Given the description of an element on the screen output the (x, y) to click on. 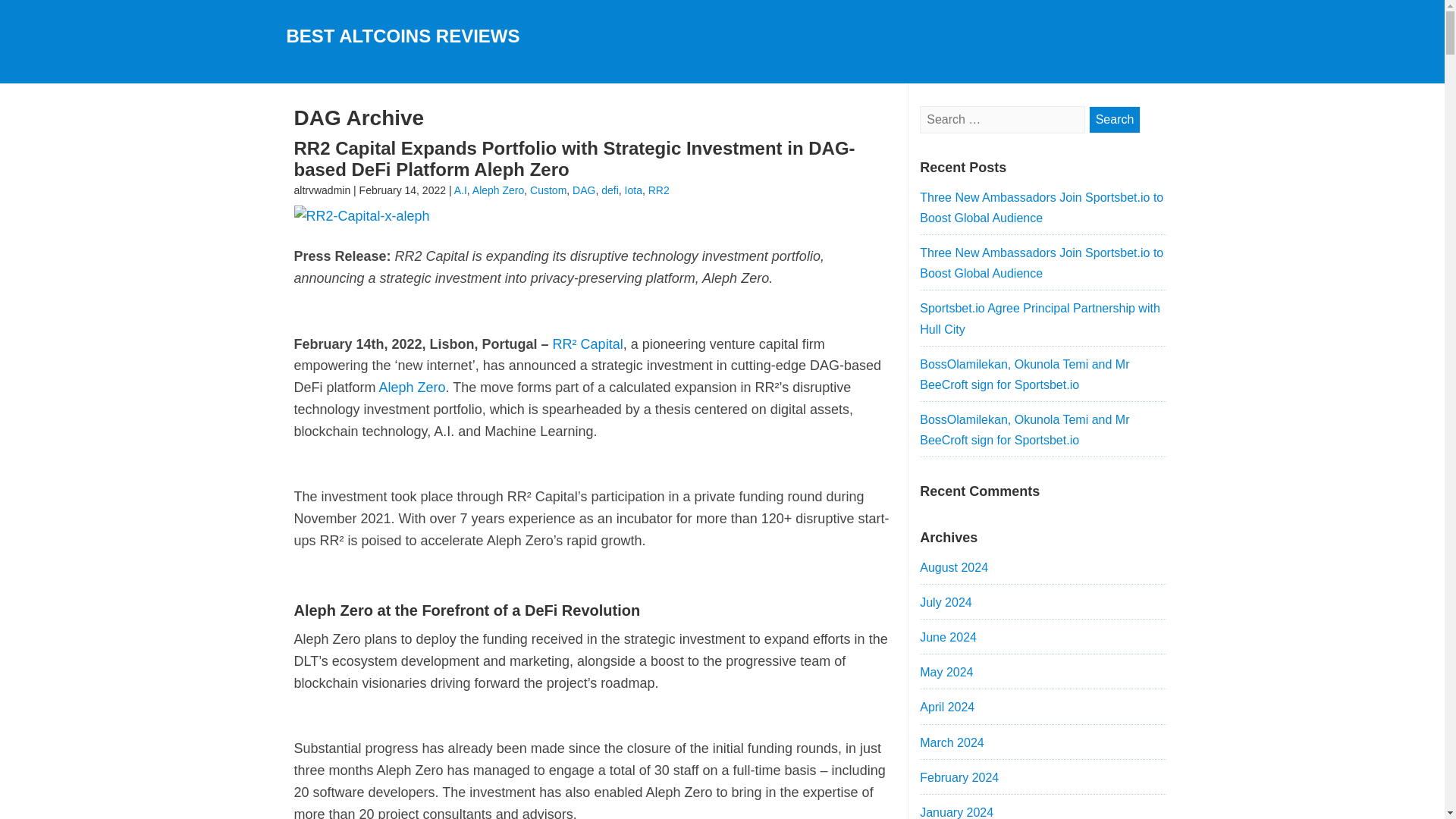
A.I (460, 190)
DAG (583, 190)
defi (609, 190)
Aleph Zero (497, 190)
Search (1115, 119)
BEST ALTCOINS REVIEWS (402, 35)
RR2 (658, 190)
